Given the description of an element on the screen output the (x, y) to click on. 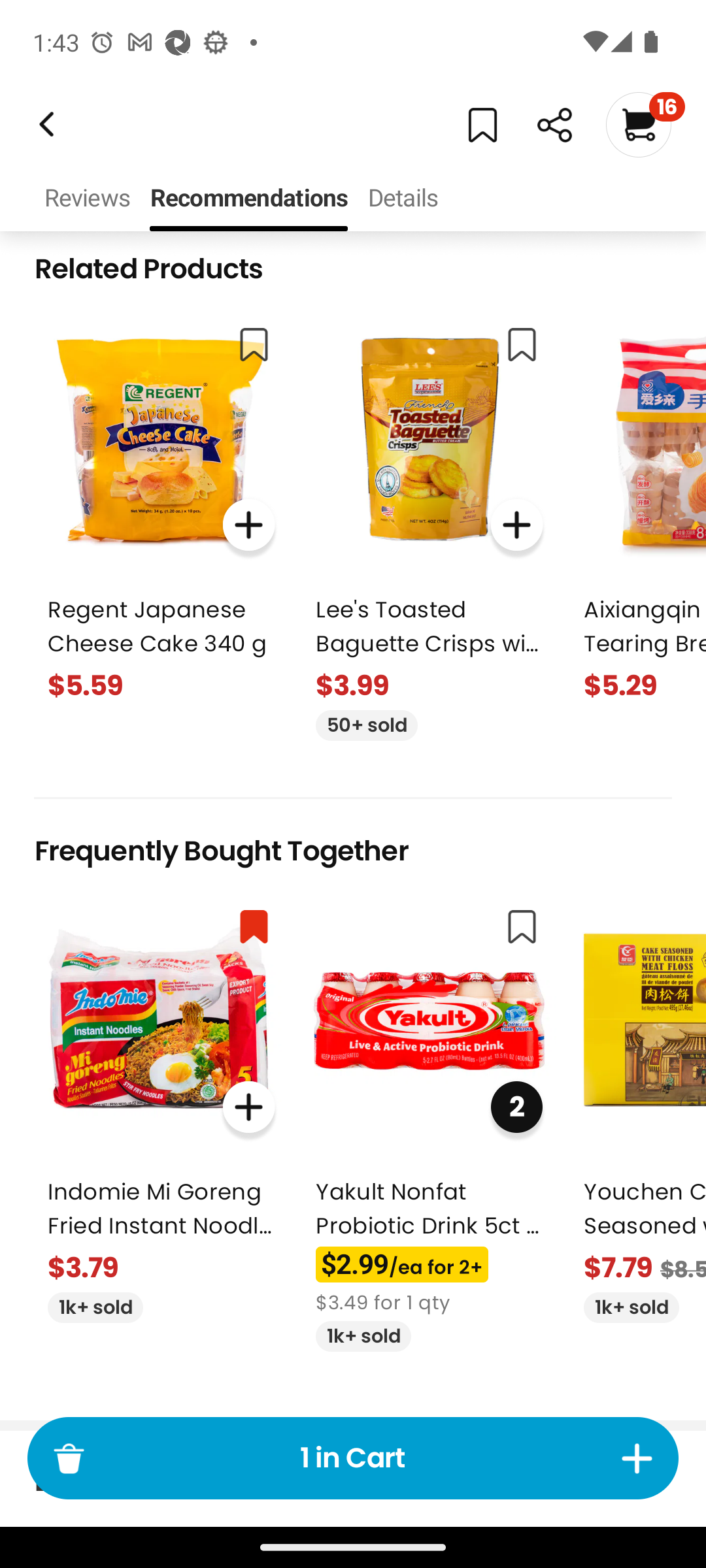
Looks good   (282, 86)
16 (644, 124)
Weee! (45, 124)
Weee! (554, 125)
Reviews (86, 199)
Recommendations (248, 199)
Details (402, 199)
Regent Japanese Cheese Cake 340 g $5.59 (160, 507)
2 (516, 1106)
1 in Cart (352, 1458)
1 in Cart (352, 1458)
